Given the description of an element on the screen output the (x, y) to click on. 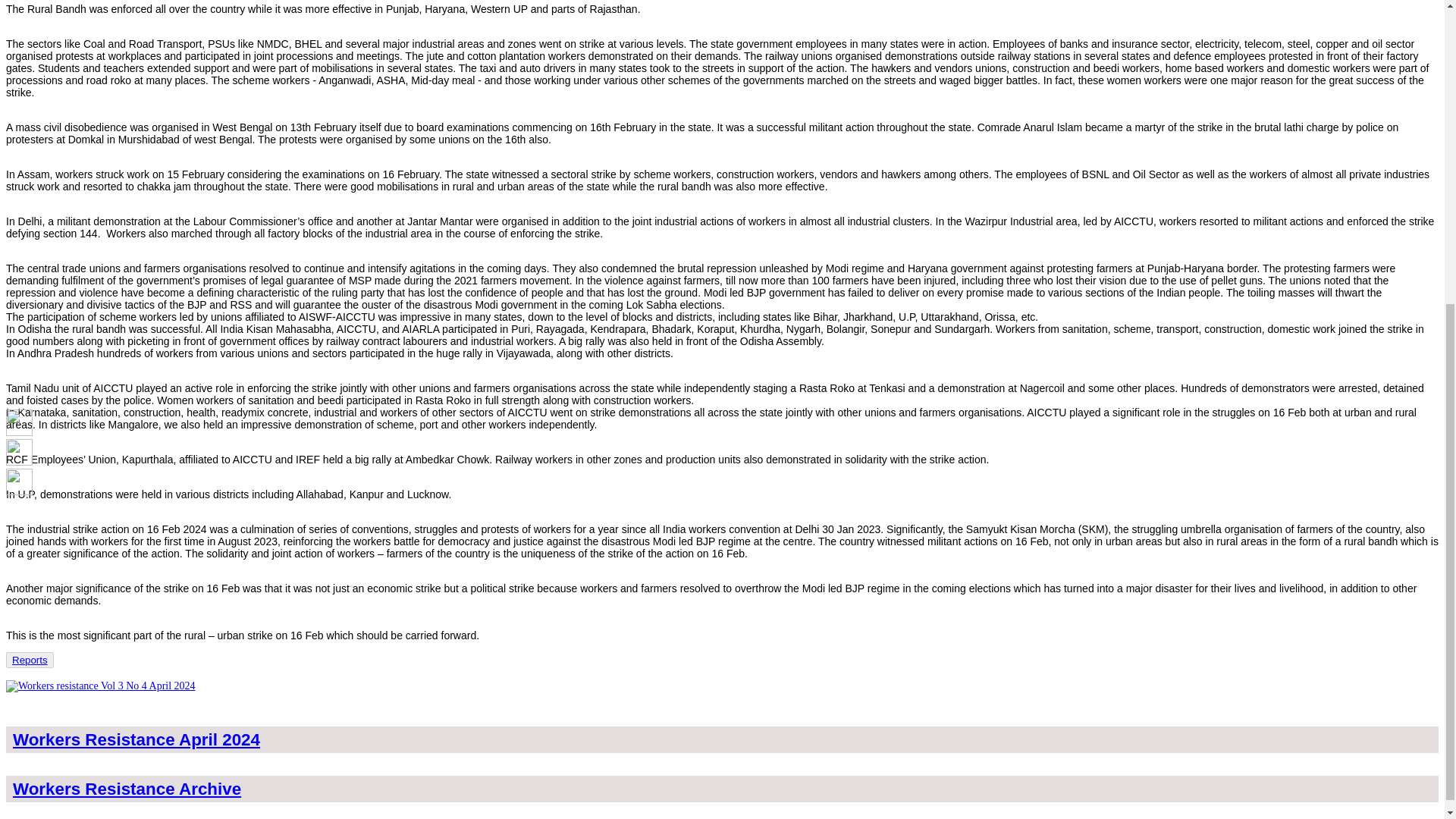
Reports (29, 659)
Reports (29, 659)
Workers Resistance Archive (127, 788)
Workers Resistance April 2024 (136, 739)
